Given the description of an element on the screen output the (x, y) to click on. 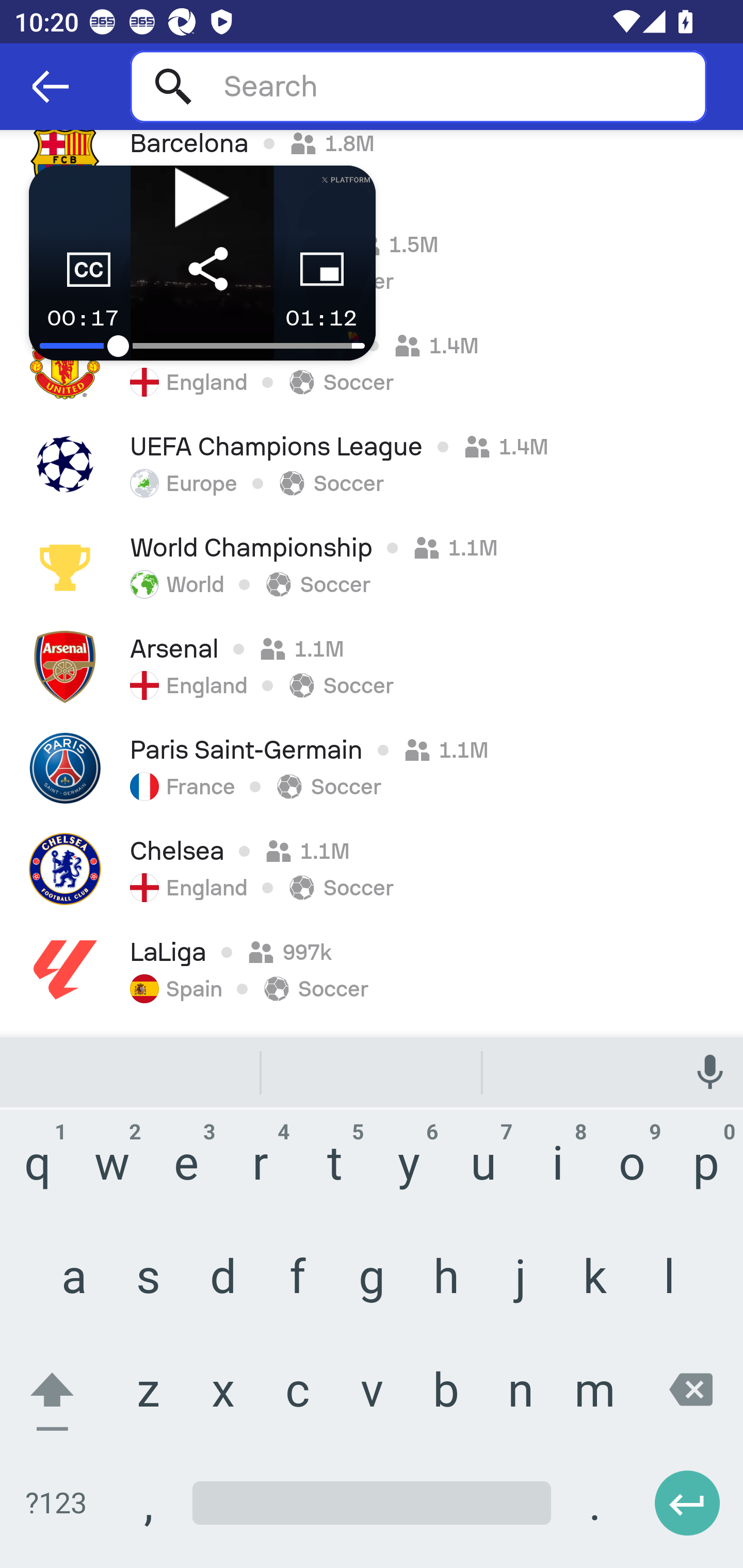
Navigate up (50, 86)
Search (418, 86)
UEFA Champions League 1.4M Europe Soccer (371, 464)
World Championship 1.1M World Soccer (371, 565)
Arsenal 1.1M England Soccer (371, 667)
Paris Saint-Germain 1.1M France Soccer (371, 768)
Chelsea 1.1M England Soccer (371, 869)
LaLiga 997k Spain Soccer (371, 970)
